Given the description of an element on the screen output the (x, y) to click on. 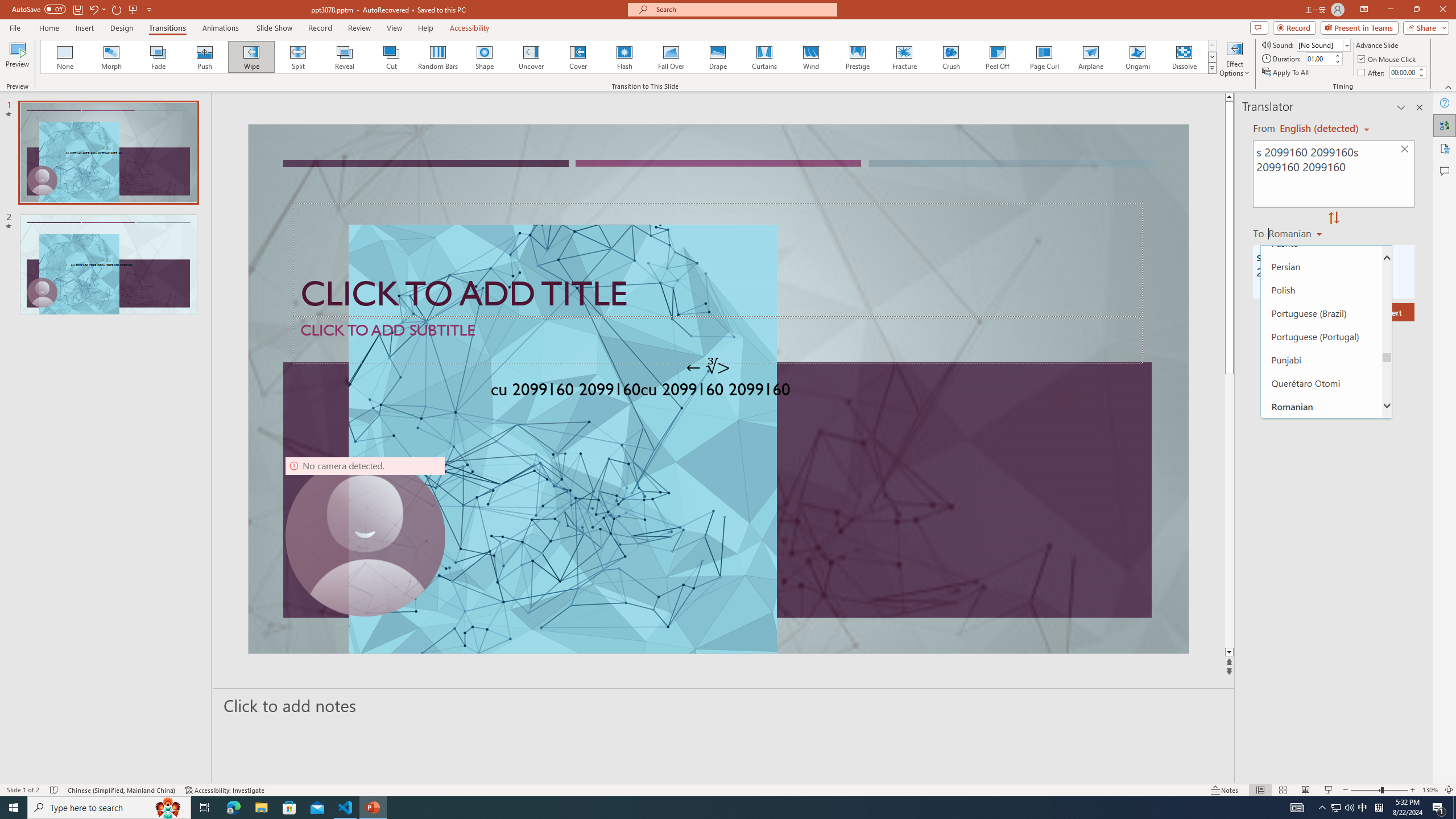
Nyanja (1320, 196)
TextBox 61 (716, 391)
Serbian (Cyrillic) (1320, 499)
Sound (1324, 44)
Random Bars (437, 56)
Persian (1320, 266)
Sinhala (1320, 662)
